Given the description of an element on the screen output the (x, y) to click on. 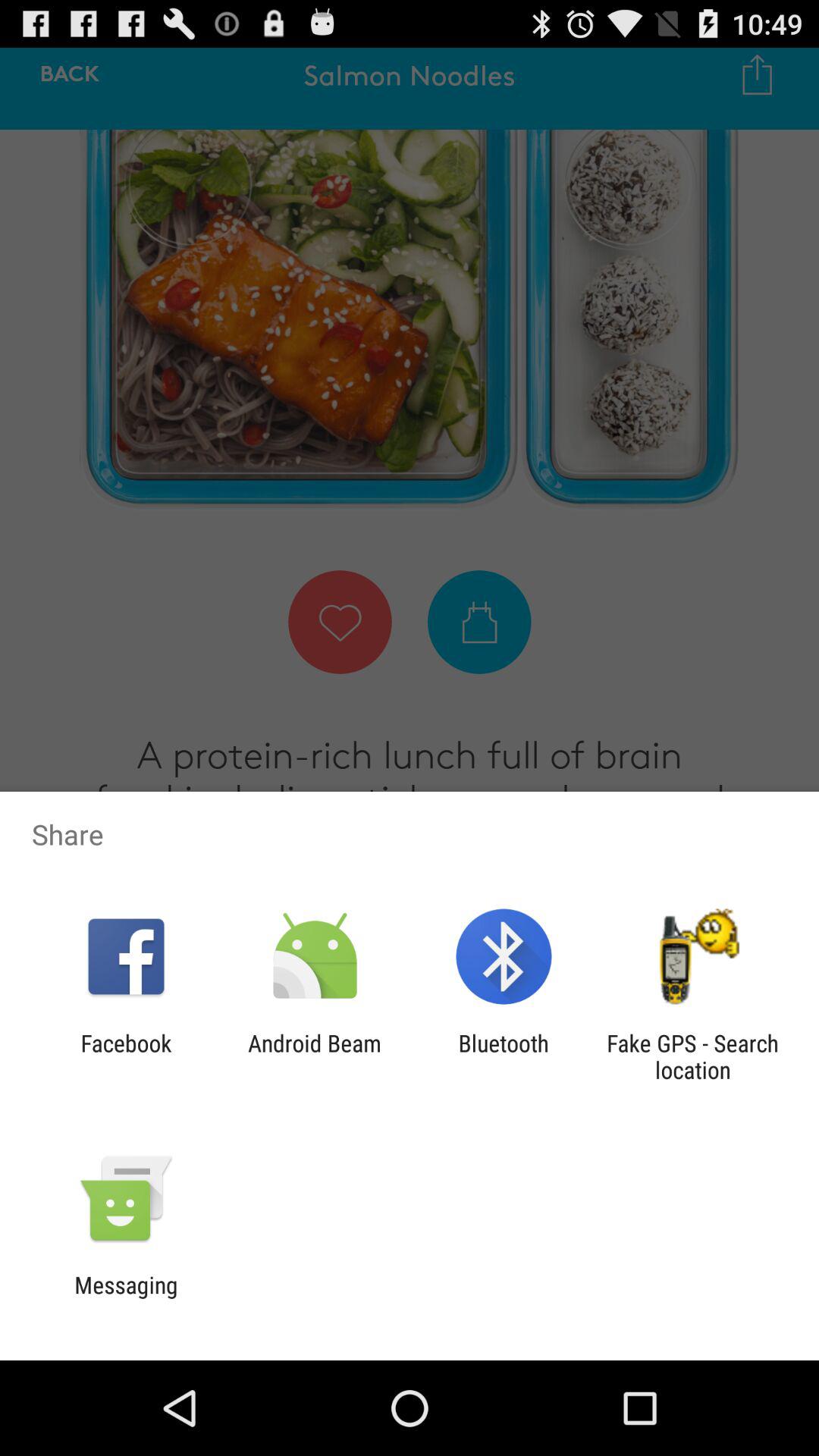
launch the app to the left of bluetooth item (314, 1056)
